Given the description of an element on the screen output the (x, y) to click on. 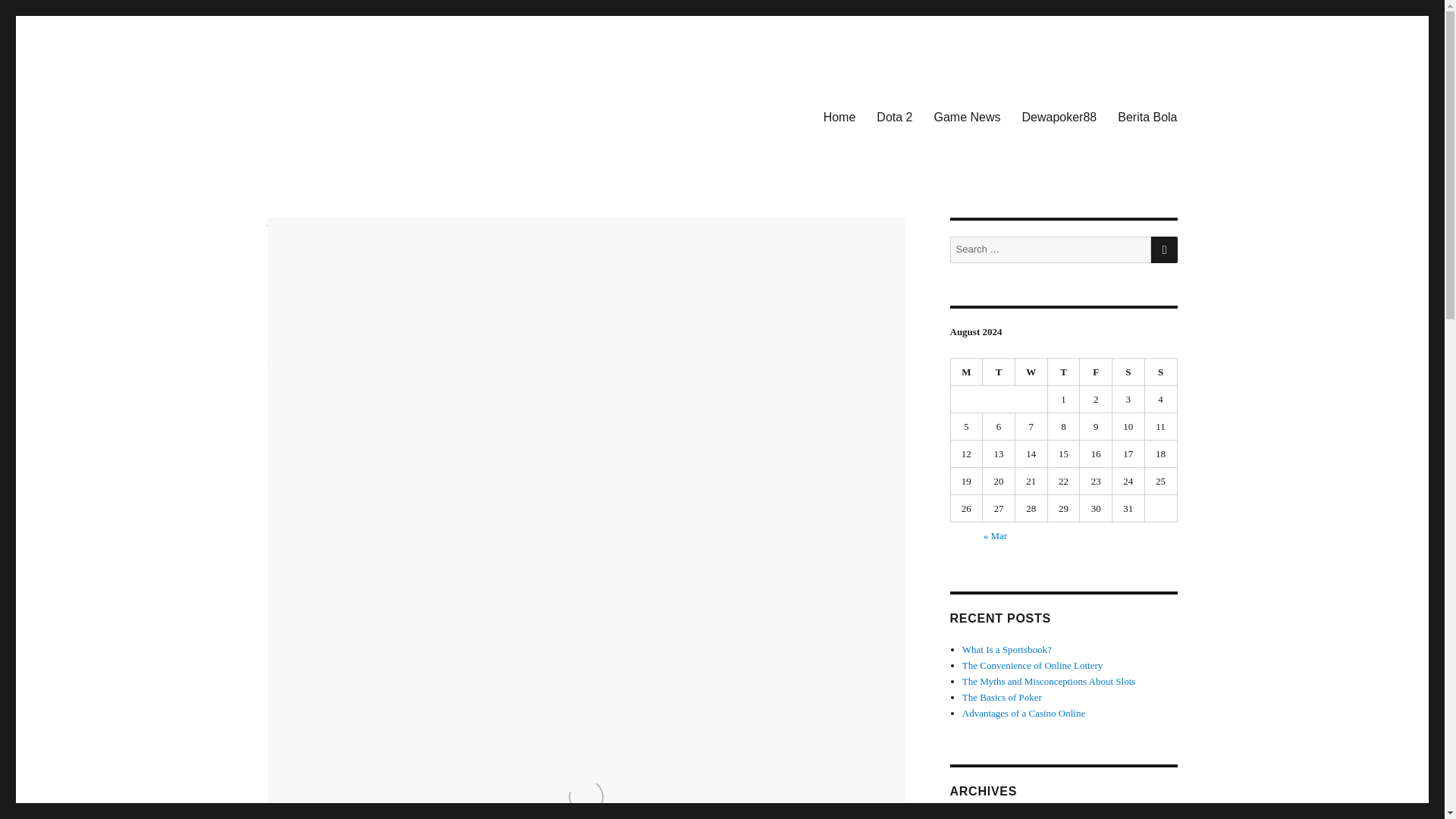
SEARCH (1164, 249)
Dota 2 (280, 379)
June 9, 2023 (294, 358)
Dewapoker88 (1059, 116)
What Is a Sportsbook? (1006, 649)
gamerrelics (291, 337)
March 2024 (986, 817)
Home (839, 116)
The Myths and Misconceptions About Slots (1048, 681)
Dota 2 (894, 116)
Friday (1096, 371)
Thursday (1064, 371)
Berita Bola (1147, 116)
Sunday (1160, 371)
Game News (966, 116)
